Given the description of an element on the screen output the (x, y) to click on. 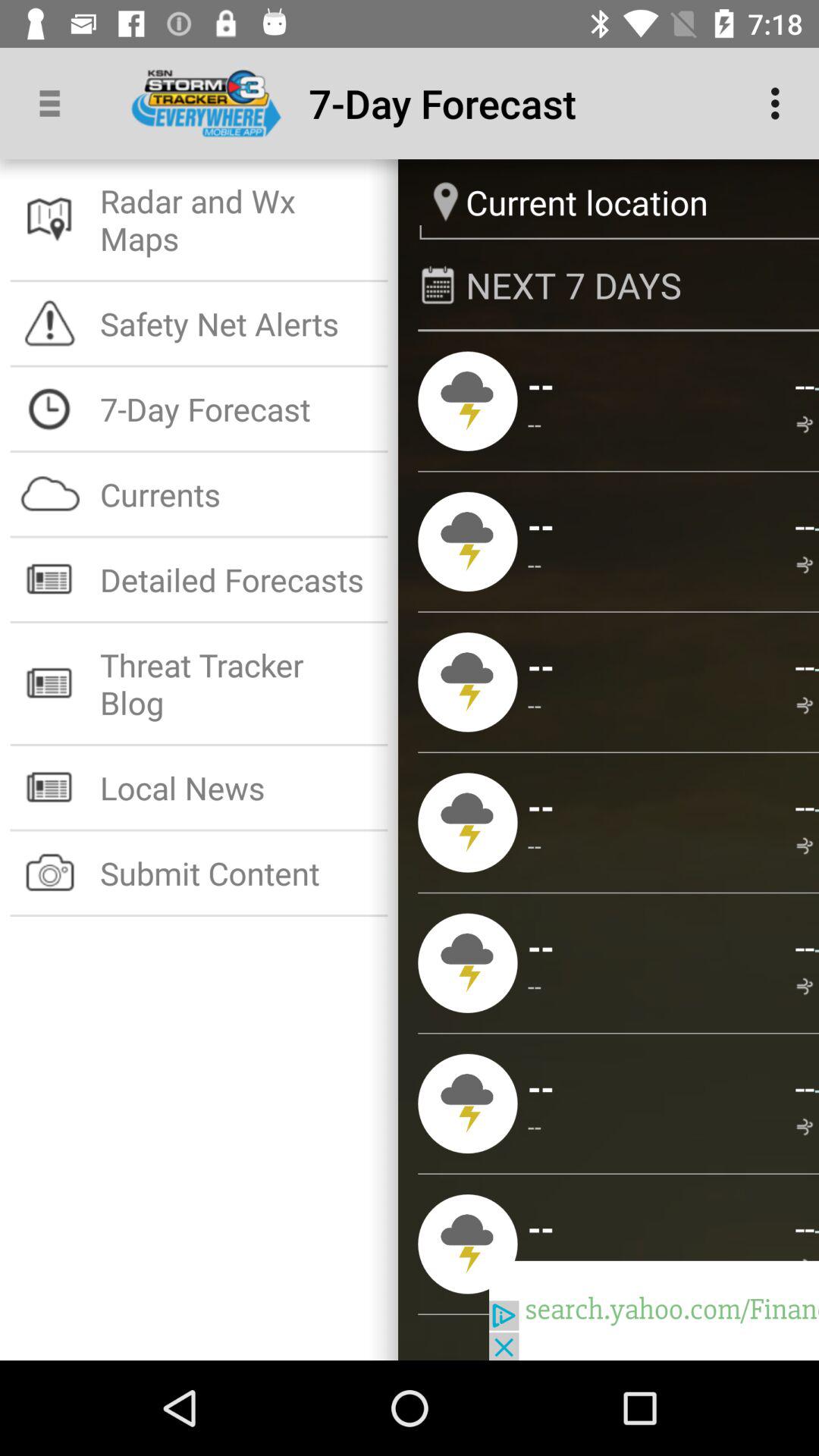
tap app above the -- app (804, 1227)
